Given the description of an element on the screen output the (x, y) to click on. 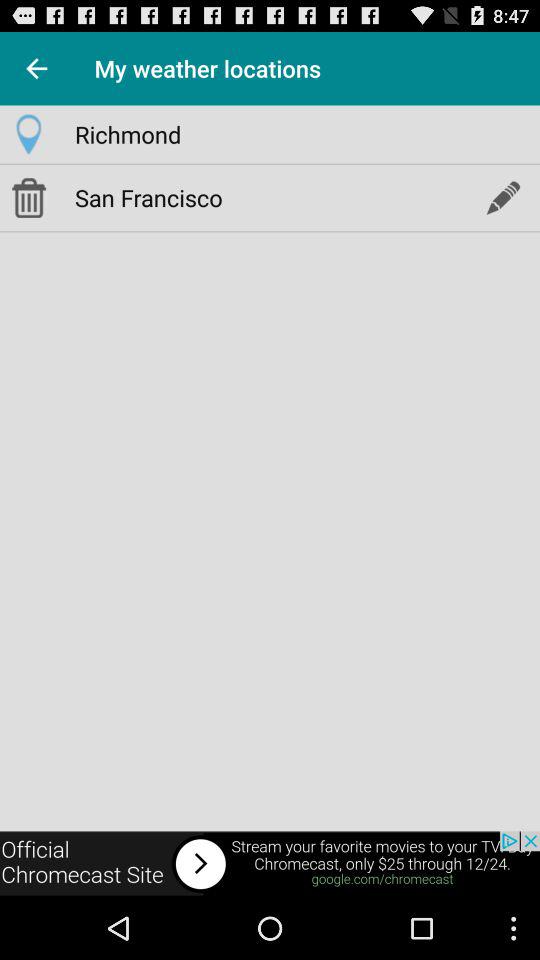
go to previous (36, 68)
